Given the description of an element on the screen output the (x, y) to click on. 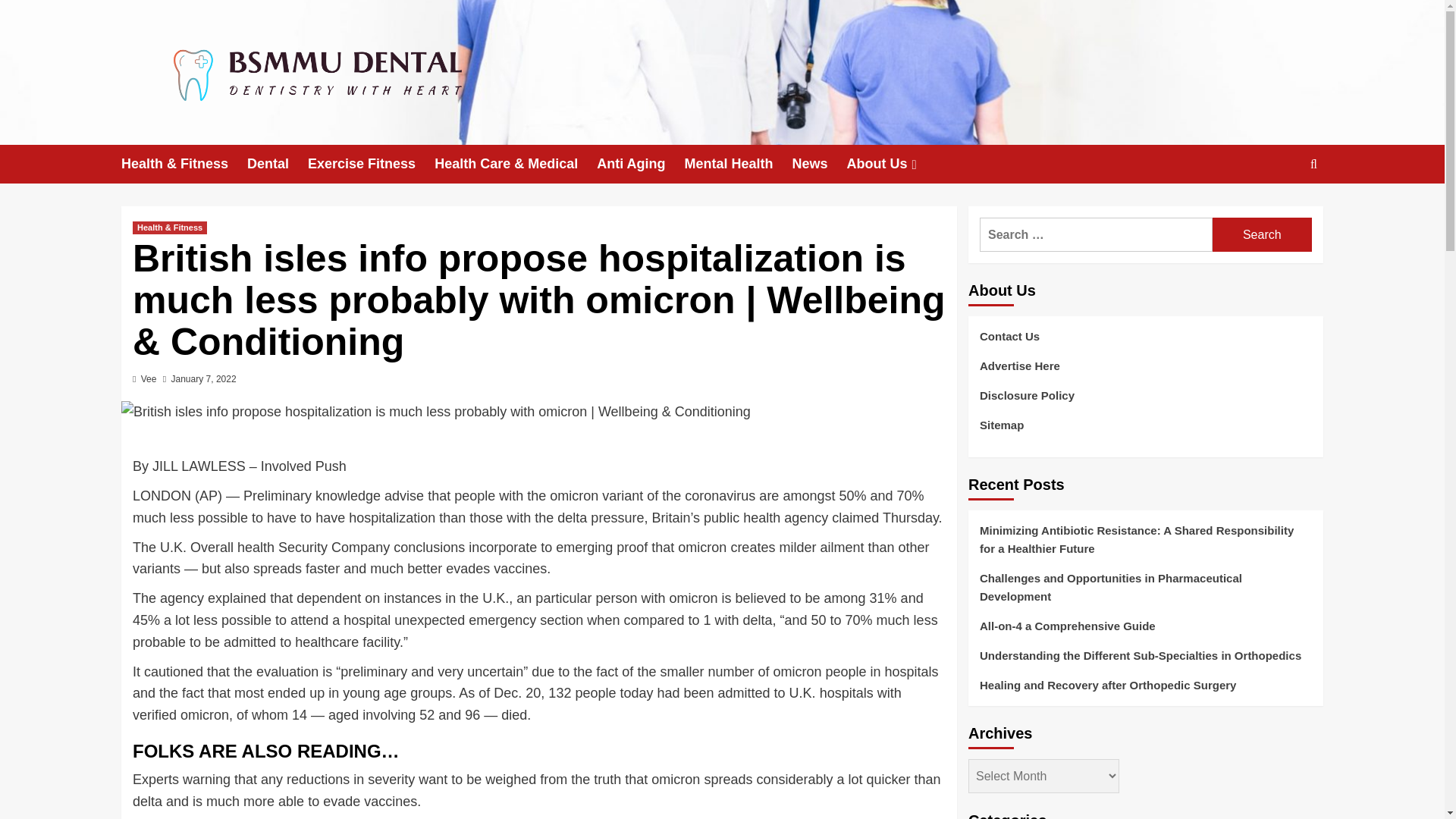
Search (1278, 211)
News (819, 163)
Exercise Fitness (370, 163)
Mental Health (738, 163)
Search (1261, 234)
Anti Aging (640, 163)
Dental (277, 163)
About Us (893, 163)
Vee (149, 378)
January 7, 2022 (203, 378)
Search (1261, 234)
Search (1313, 163)
